Given the description of an element on the screen output the (x, y) to click on. 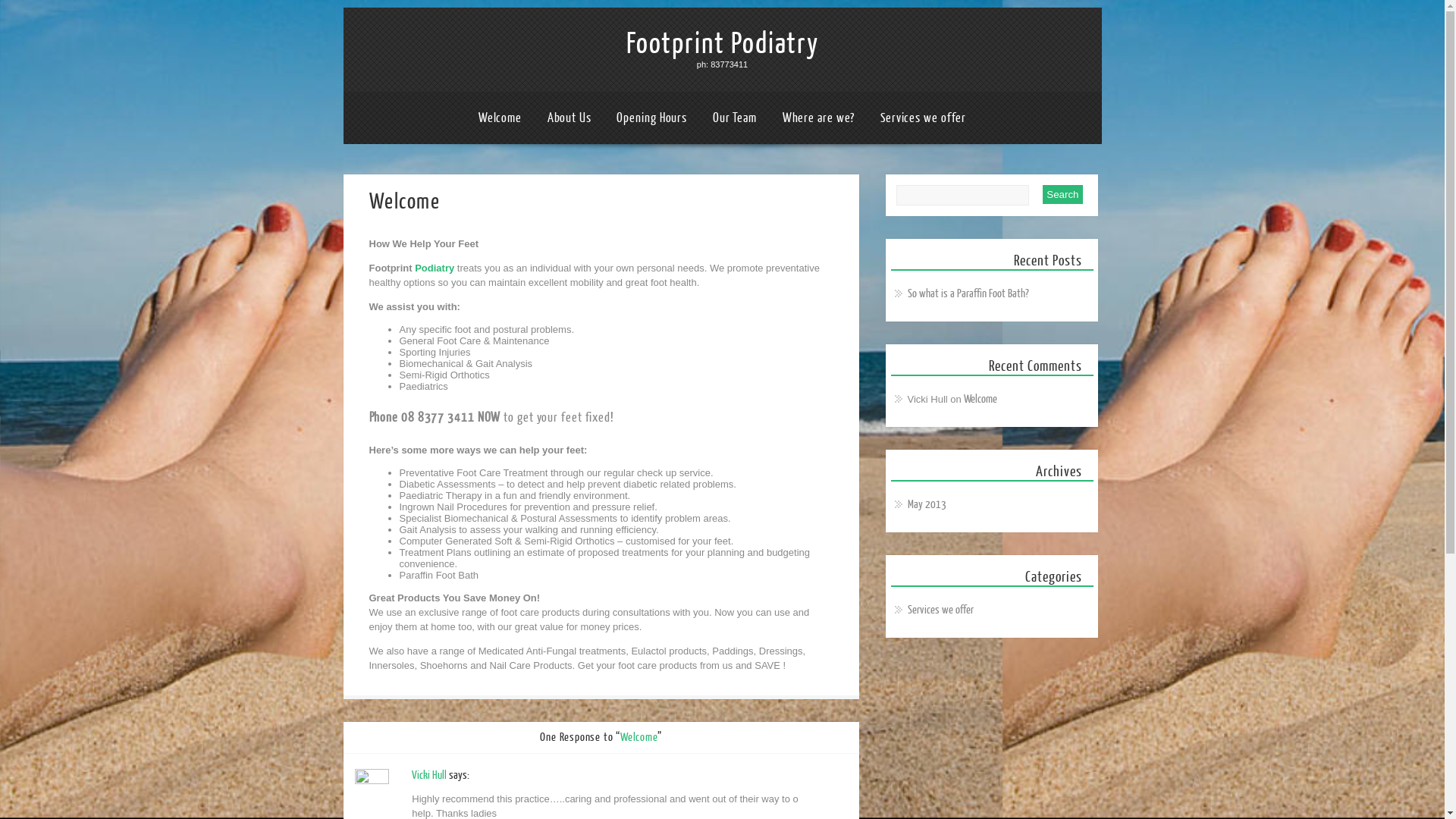
About Us Element type: text (569, 117)
Opening Hours Element type: text (651, 117)
Services we offer Element type: text (923, 117)
Welcome Element type: text (499, 117)
Welcome Element type: text (638, 737)
So what is a Paraffin Foot Bath? Element type: text (967, 293)
Our Team Element type: text (734, 117)
May 2013 Element type: text (925, 504)
Where are we? Element type: text (818, 117)
Search Element type: text (1062, 194)
Welcome Element type: text (980, 398)
Services we offer Element type: text (939, 609)
Podiatry Element type: text (434, 267)
Footprint Podiatry Element type: text (721, 43)
